Given the description of an element on the screen output the (x, y) to click on. 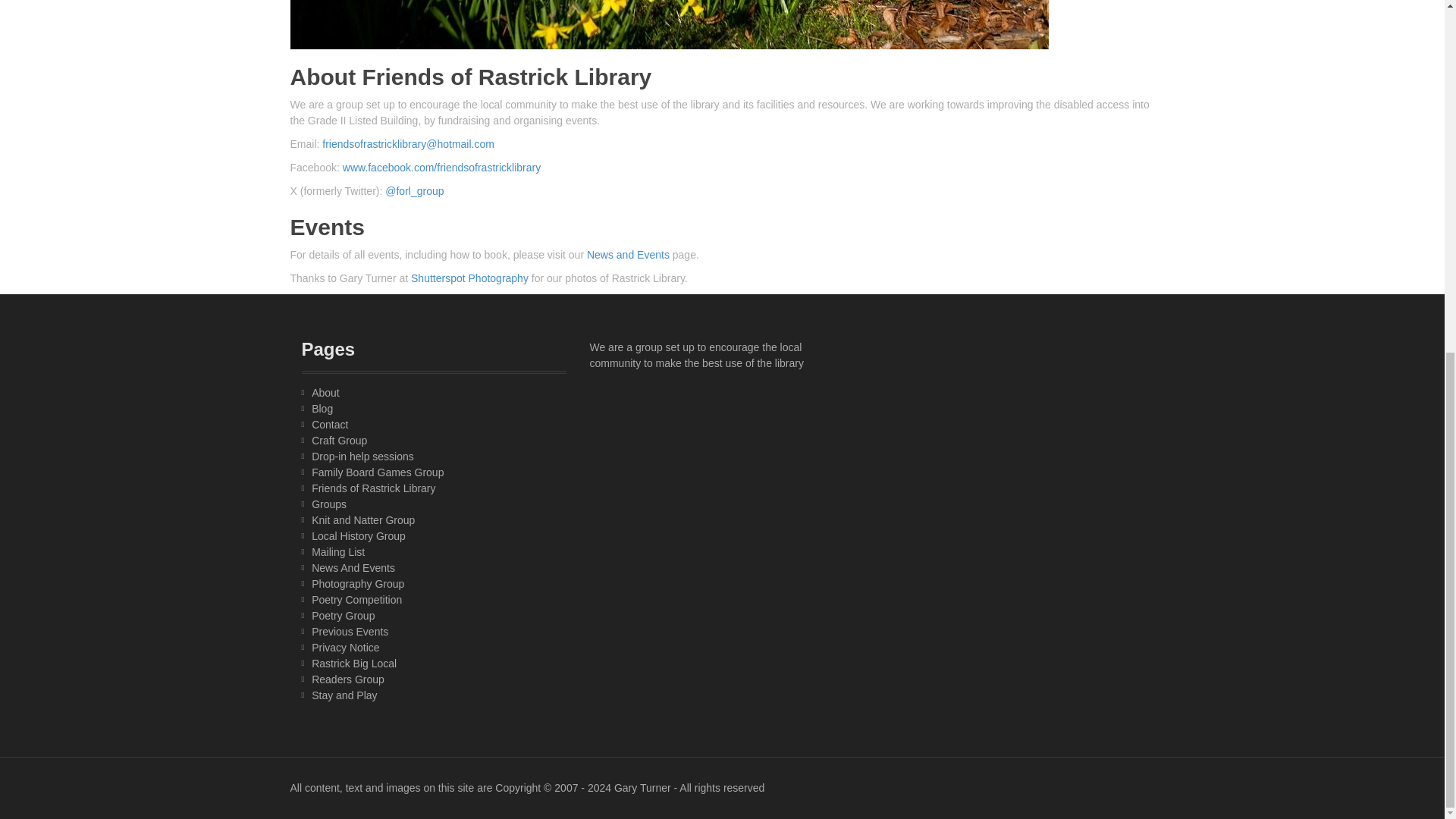
Friends of Rastrick Library (373, 488)
Poetry Group (342, 615)
Craft Group (338, 440)
News And Events (352, 567)
Contact (329, 424)
About (325, 392)
Local History Group (358, 535)
Groups (328, 503)
News and Events (627, 254)
Photography Group (357, 583)
Blog (322, 408)
Mailing List (338, 551)
Knit and Natter Group (362, 520)
Drop-in help sessions (362, 456)
Shutterspot Photography (469, 277)
